Given the description of an element on the screen output the (x, y) to click on. 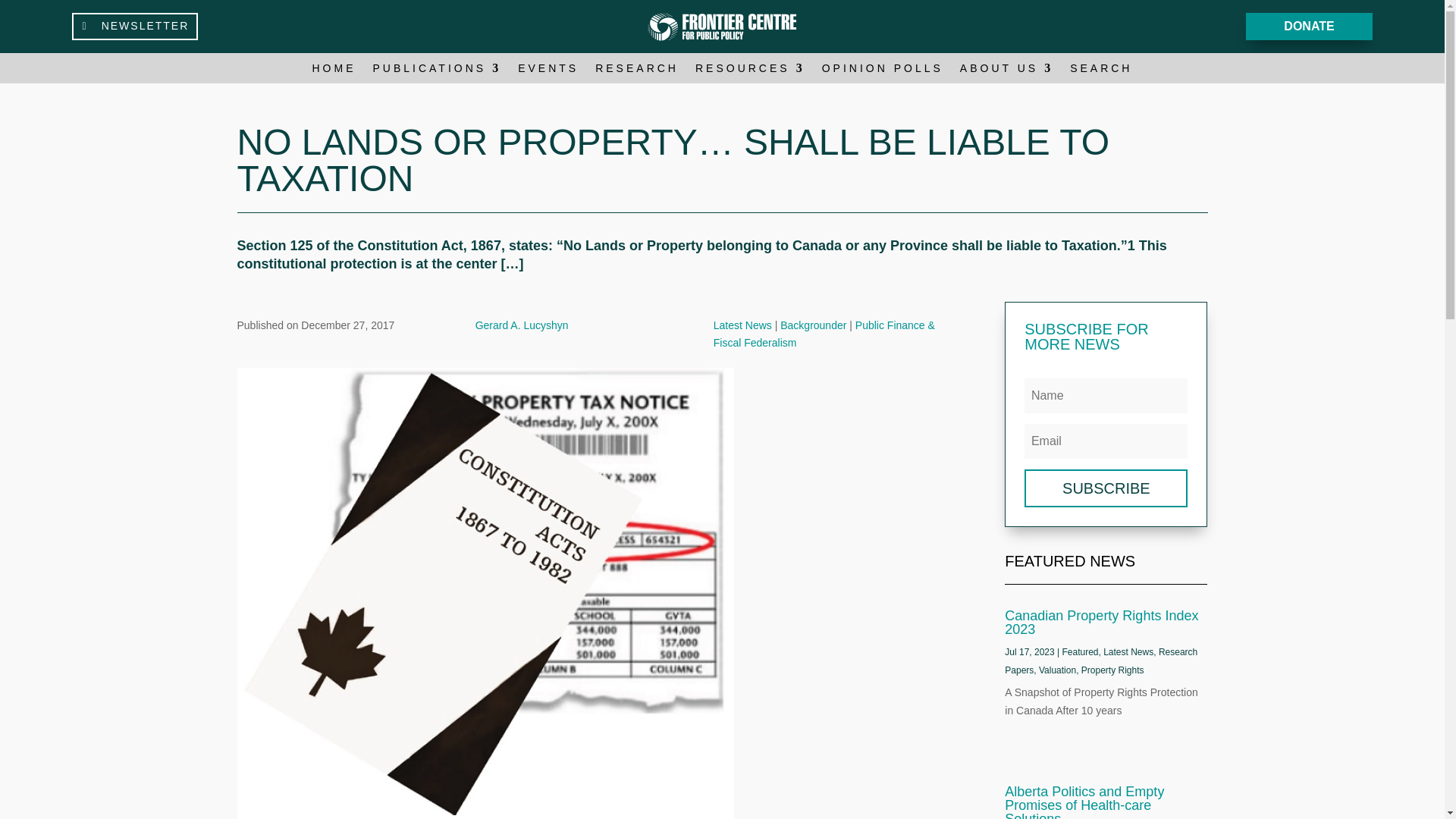
RESEARCH (636, 71)
FCPP Icon White (722, 25)
PUBLICATIONS (437, 71)
NEWSLETTER (134, 26)
DONATE (1308, 26)
ABOUT US (1005, 71)
OPINION POLLS (882, 71)
EVENTS (548, 71)
HOME (334, 71)
